Given the description of an element on the screen output the (x, y) to click on. 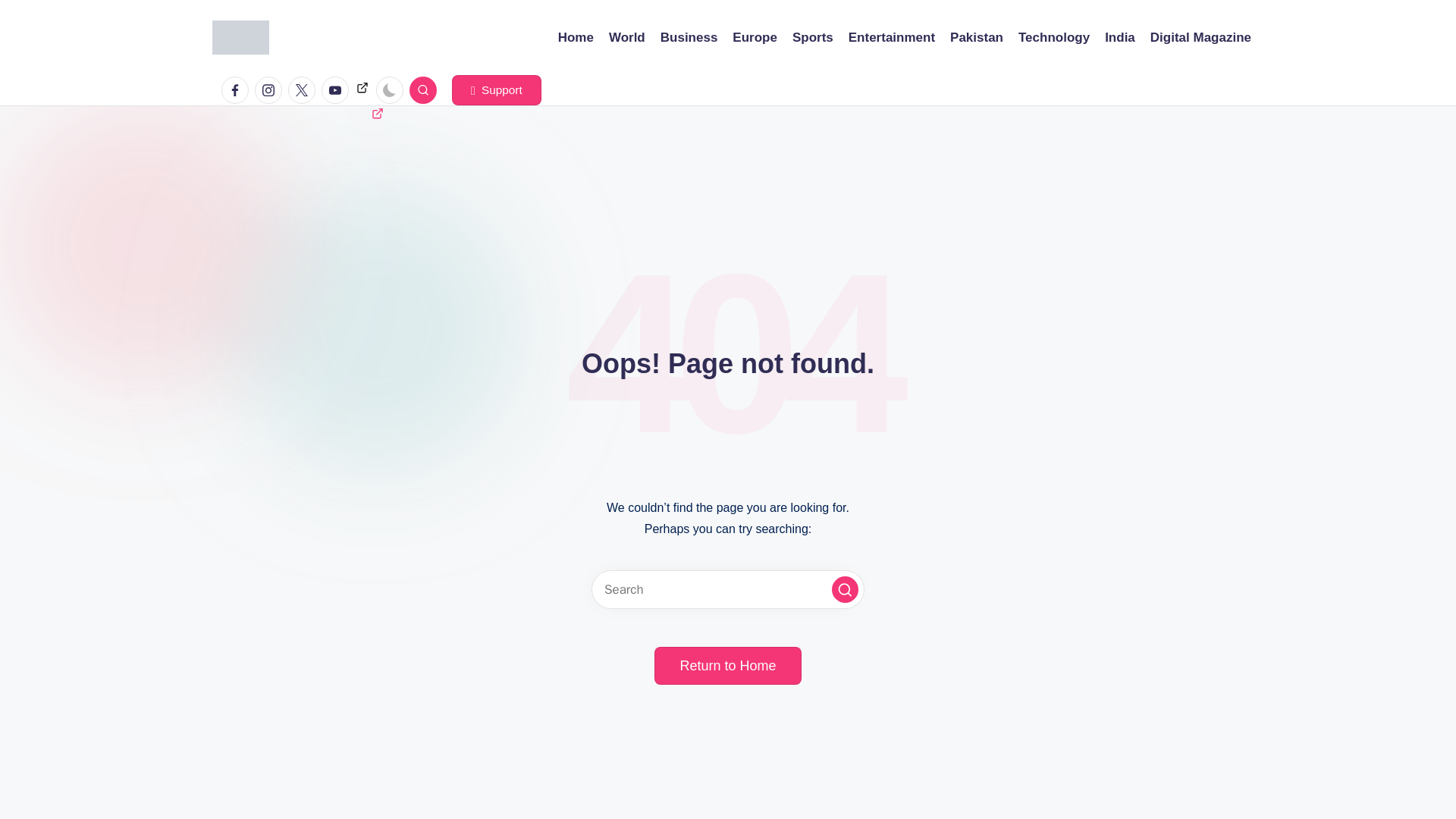
instagram (271, 90)
Business (689, 37)
Return to Home (726, 665)
Twitter (301, 90)
facebook (237, 90)
Digital Magazine (1200, 37)
Technology (1053, 37)
Home (575, 37)
twitter (304, 90)
Instagram (268, 90)
